Given the description of an element on the screen output the (x, y) to click on. 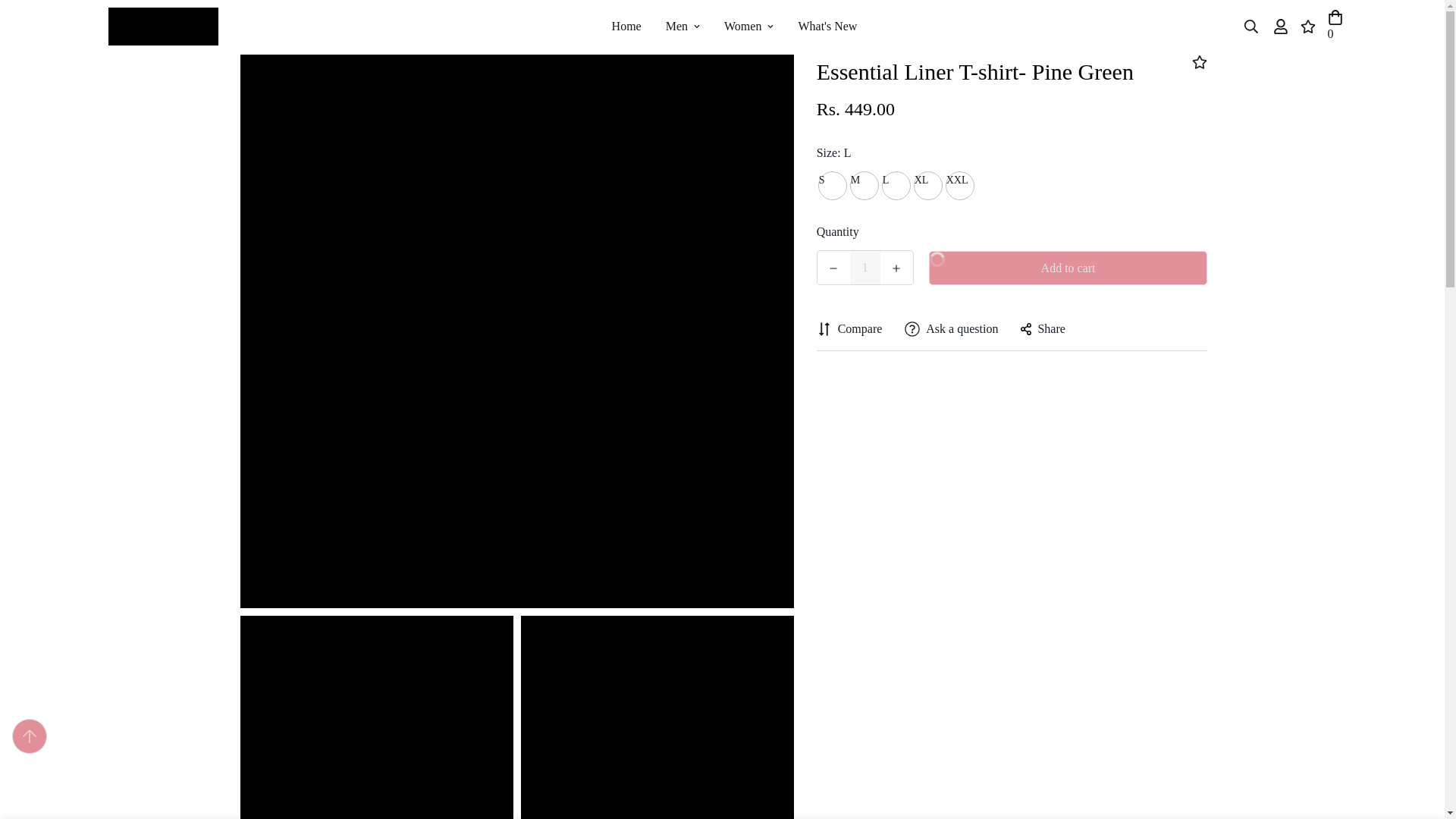
Men (682, 25)
1 (734, 25)
Infinia Athleisure (734, 25)
Home (865, 267)
Women (161, 26)
Back to the home page (626, 25)
